Given the description of an element on the screen output the (x, y) to click on. 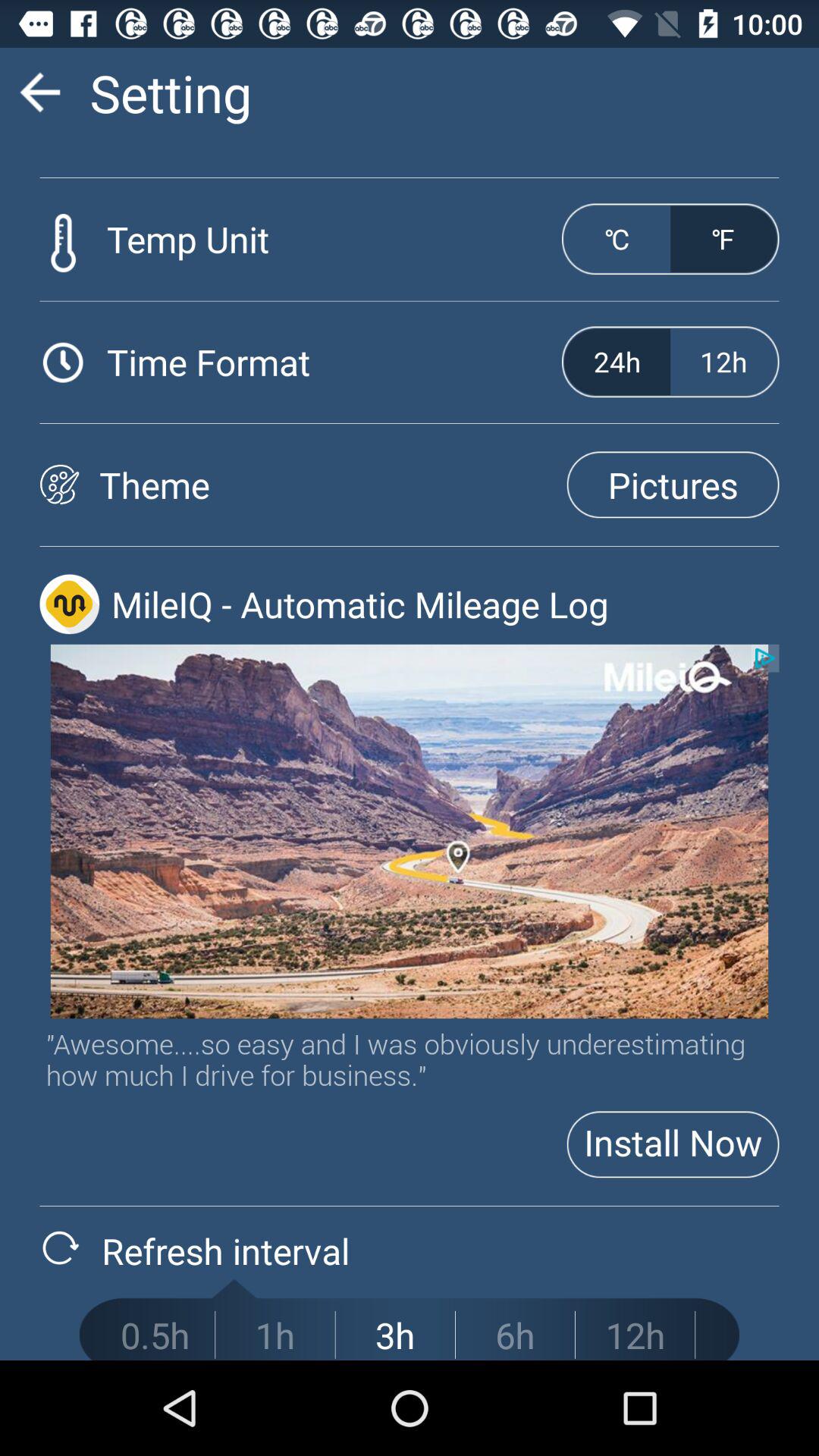
flip until the 6h (515, 1334)
